Given the description of an element on the screen output the (x, y) to click on. 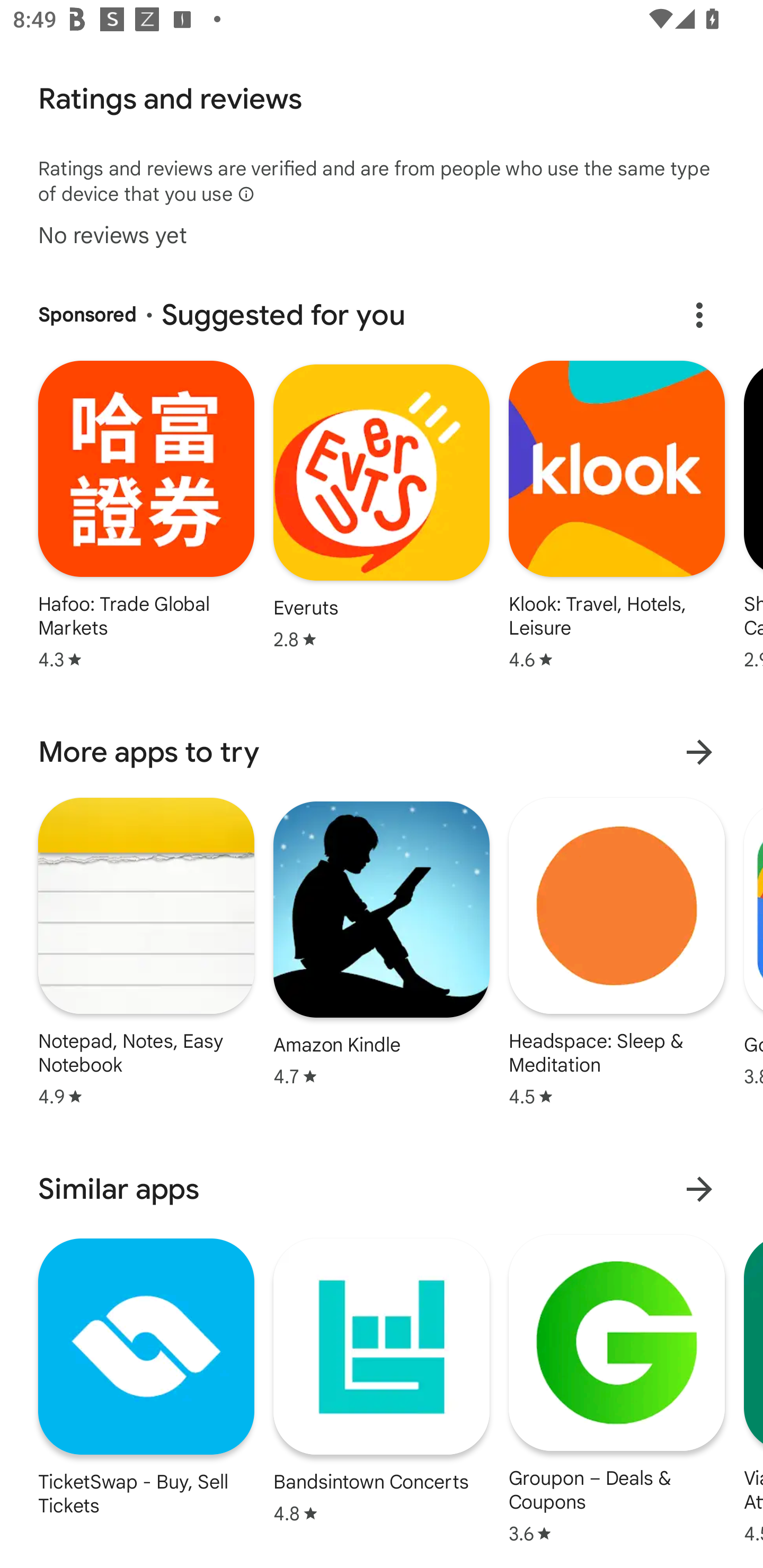
About this ad (699, 314)
Hafoo: Trade Global Markets
Star rating: 4.3
 (145, 514)
Everuts
Star rating: 2.8
 (381, 506)
Klook: Travel, Hotels, Leisure
Star rating: 4.6
 (616, 514)
More apps to try More results for More apps to try (381, 751)
More results for More apps to try (699, 751)
Notepad, Notes, Easy Notebook
Star rating: 4.9
 (145, 951)
Amazon Kindle
Star rating: 4.7
 (381, 943)
Headspace: Sleep & Meditation
Star rating: 4.5
 (616, 951)
Similar apps More results for Similar apps (381, 1189)
More results for Similar apps (699, 1188)
TicketSwap - Buy, Sell Tickets
 (145, 1376)
Bandsintown Concerts
Star rating: 4.8
 (381, 1380)
Groupon – Deals & Coupons
Star rating: 3.6
 (616, 1388)
